Given the description of an element on the screen output the (x, y) to click on. 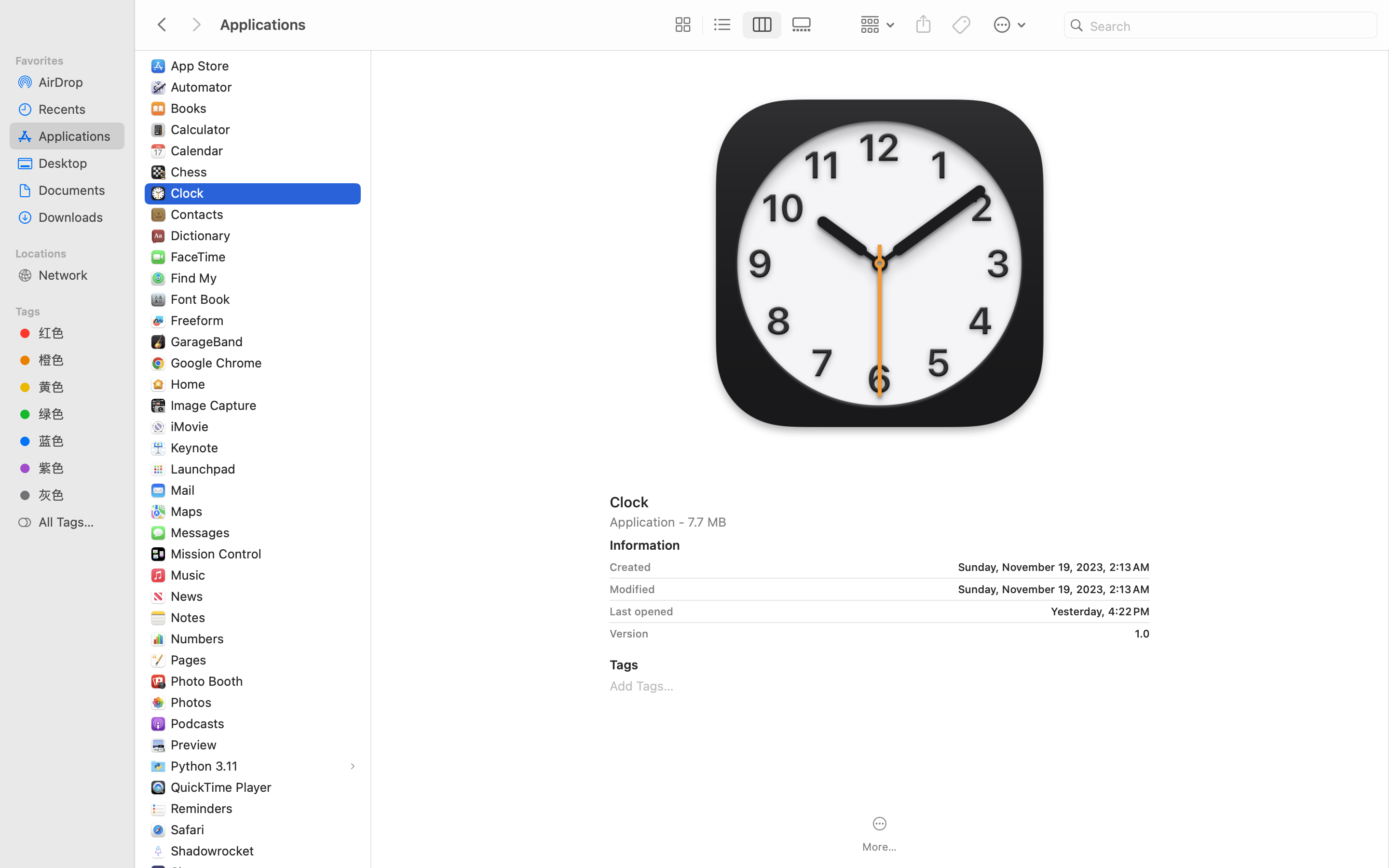
Python 3.11 Element type: AXTextField (206, 765)
Photos Element type: AXTextField (192, 701)
紫色 Element type: AXStaticText (77, 467)
Clock Element type: AXTextField (189, 192)
Reminders Element type: AXTextField (203, 807)
